Given the description of an element on the screen output the (x, y) to click on. 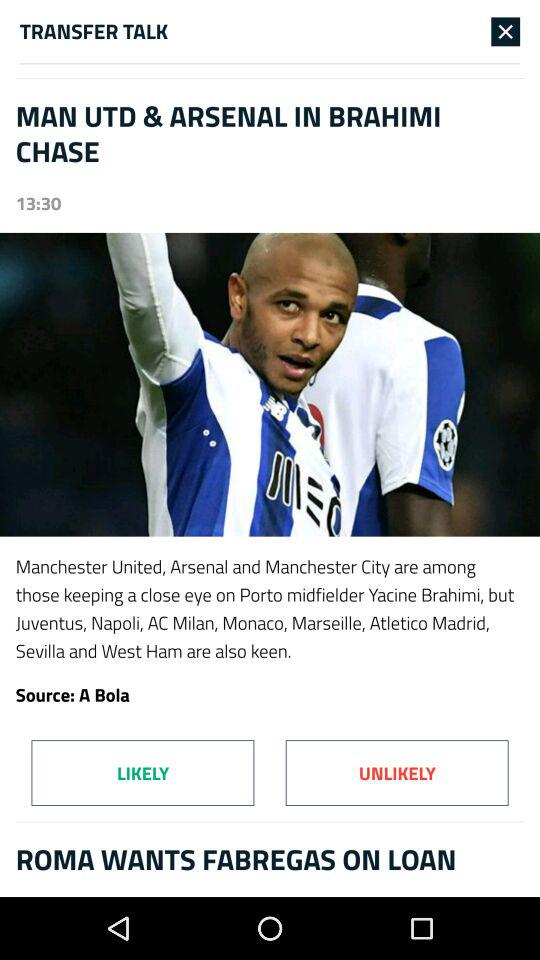
press item next to the likely (396, 772)
